Given the description of an element on the screen output the (x, y) to click on. 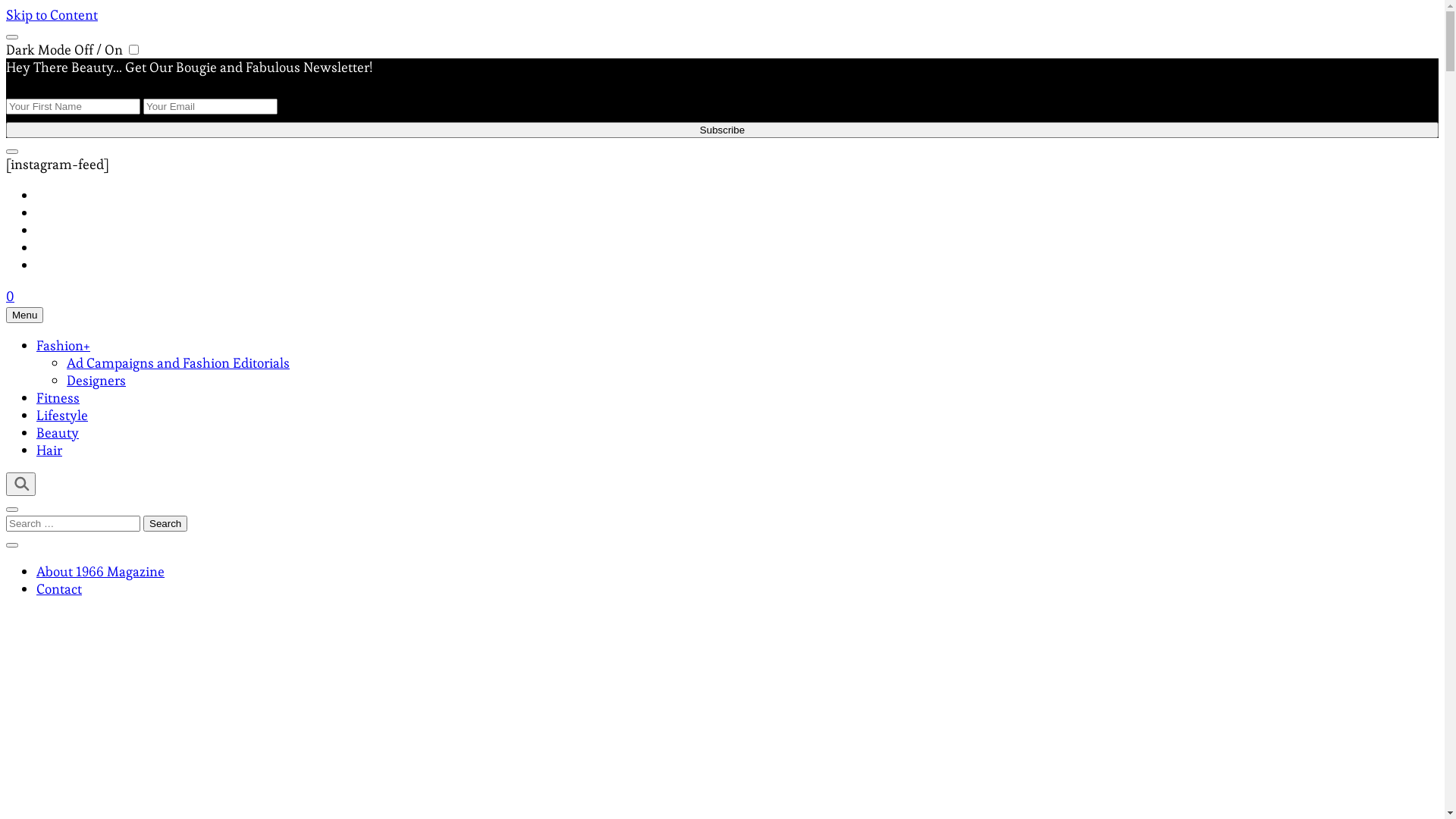
About 1966 Magazine Element type: text (100, 571)
Fitness Element type: text (57, 397)
Skip to Content Element type: text (51, 14)
Search Element type: text (165, 523)
Contact Element type: text (58, 588)
Hair Element type: text (49, 449)
Menu Element type: text (24, 315)
0 Element type: text (10, 295)
Designers Element type: text (95, 380)
Subscribe Element type: text (722, 130)
Fashion+ Element type: text (63, 345)
Beauty Element type: text (57, 432)
Ad Campaigns and Fashion Editorials Element type: text (177, 362)
Lifestyle Element type: text (61, 414)
